Given the description of an element on the screen output the (x, y) to click on. 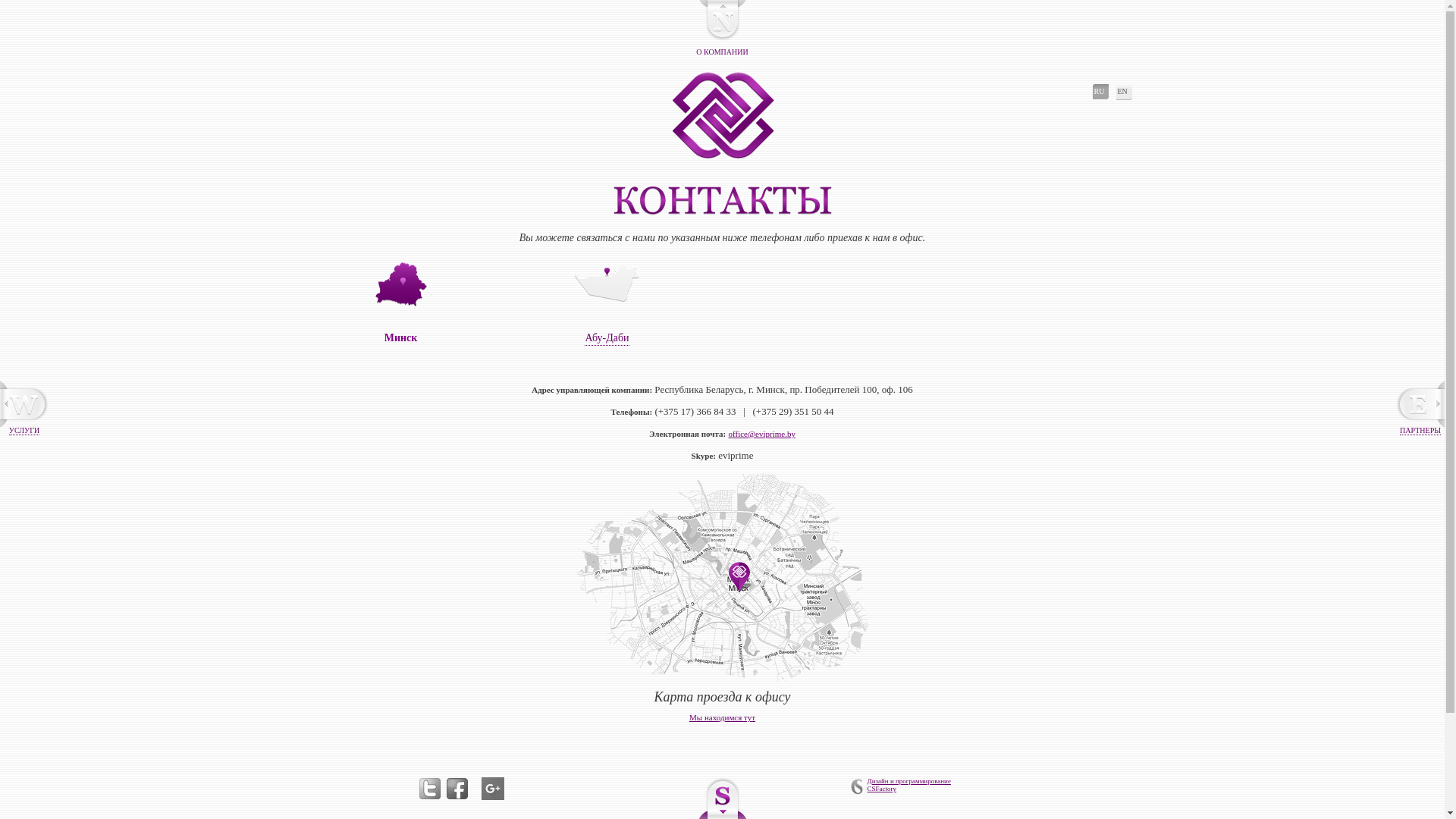
office@eviprime.by Element type: text (761, 433)
EN Element type: text (1124, 91)
RU Element type: text (1099, 91)
  Element type: text (491, 788)
  Element type: text (722, 114)
  Element type: text (428, 788)
  Element type: text (456, 788)
